Given the description of an element on the screen output the (x, y) to click on. 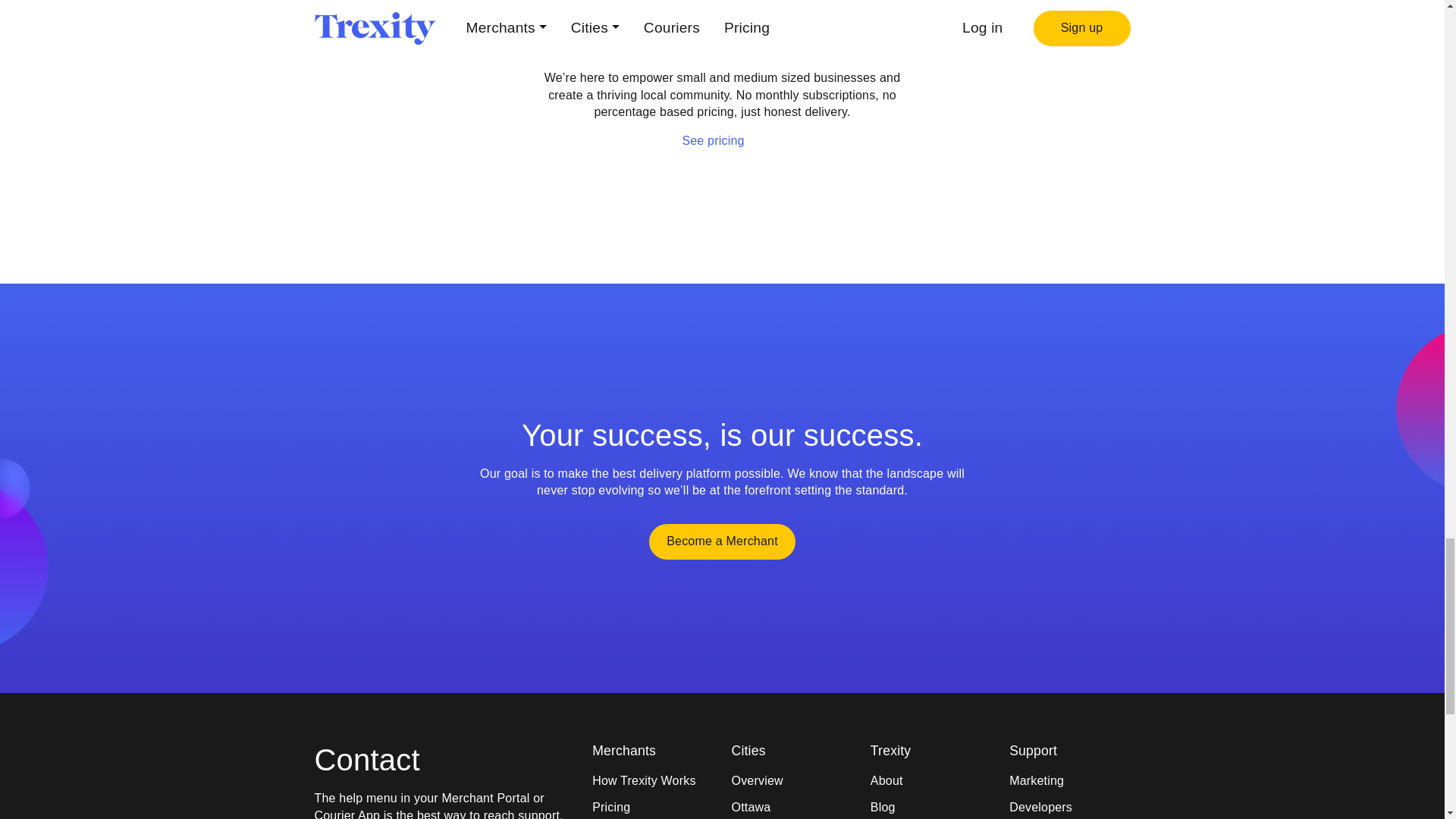
See pricing (721, 140)
Overview (790, 781)
Pricing (652, 807)
Become a Merchant (721, 542)
How Trexity Works (652, 781)
Ottawa (790, 807)
